Given the description of an element on the screen output the (x, y) to click on. 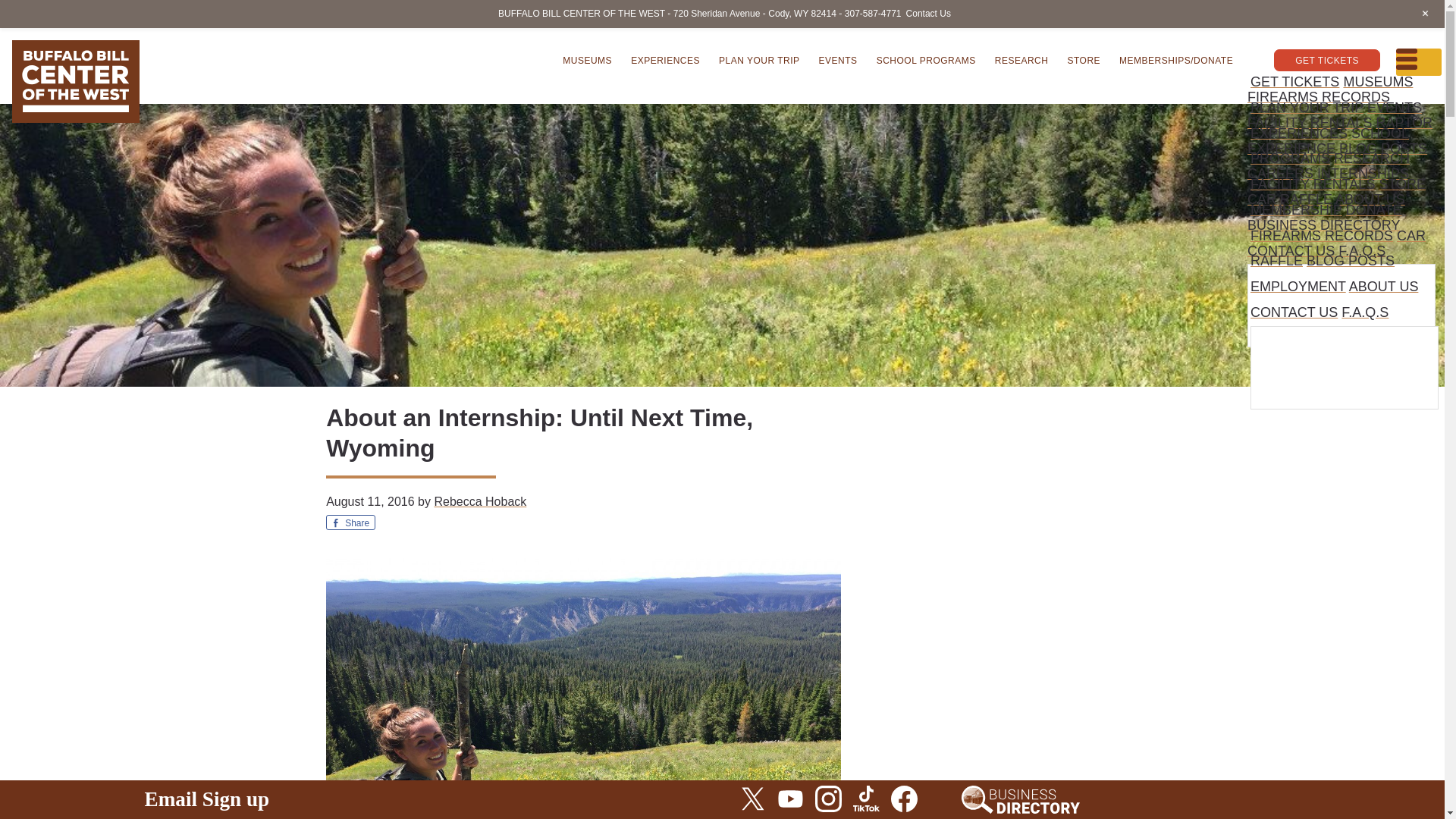
STORE (1083, 59)
MUSEUMS (587, 59)
EVENTS (1394, 107)
EVENTS (837, 59)
FIREARMS RECORDS (1321, 234)
CAR RAFFLE (1289, 199)
RESEARCH (1371, 158)
PLAN YOUR TRIP (759, 59)
DONATE (1373, 209)
SCHOOL PROGRAMS (1329, 146)
CAREERS (1280, 173)
RESEARCH (1022, 59)
MEMBERSHIP (1296, 209)
SCHOOL PROGRAMS (926, 59)
STORE (1401, 183)
